Given the description of an element on the screen output the (x, y) to click on. 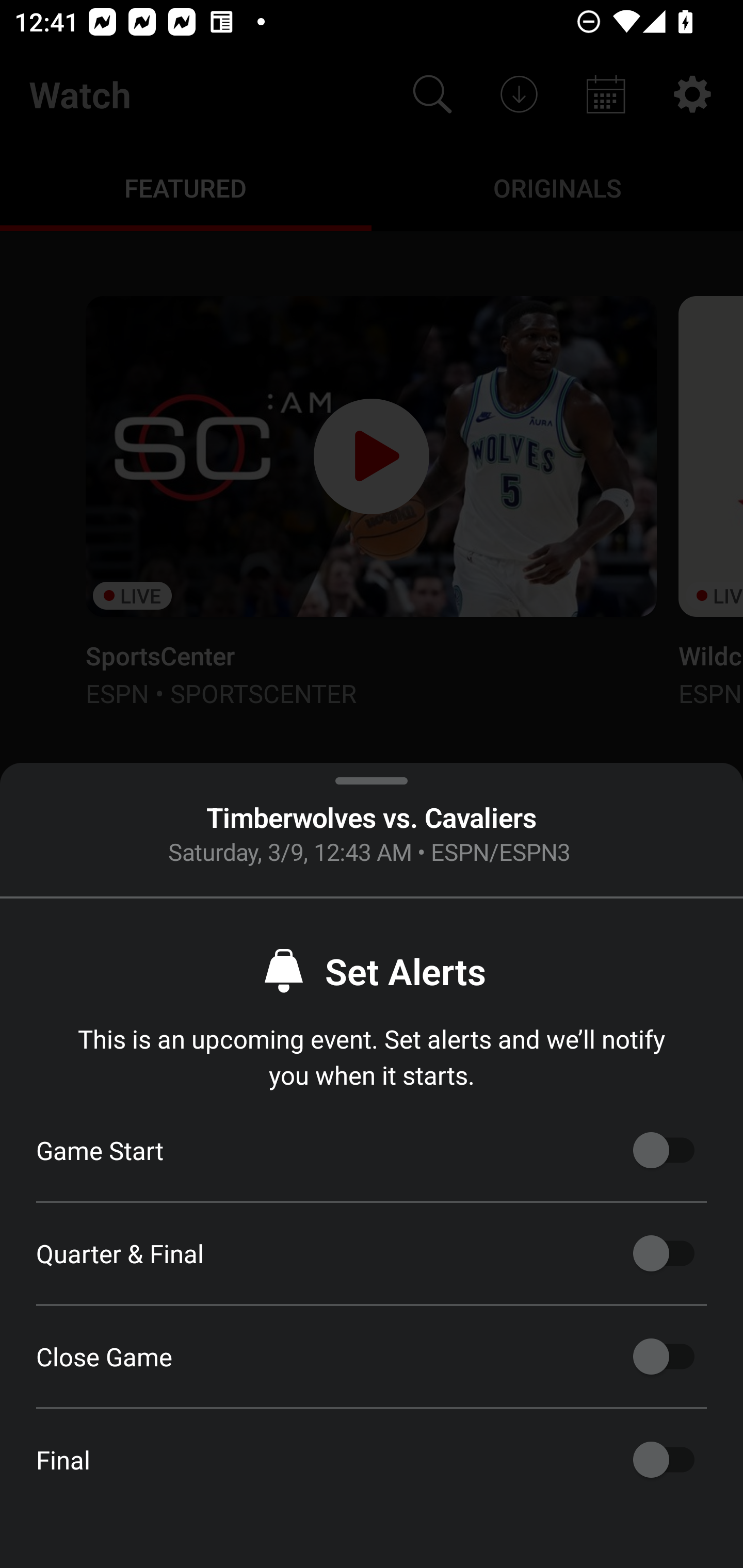
Game Start (663, 1150)
Quarter & Final (663, 1253)
Close Game (663, 1356)
Final (663, 1459)
